Given the description of an element on the screen output the (x, y) to click on. 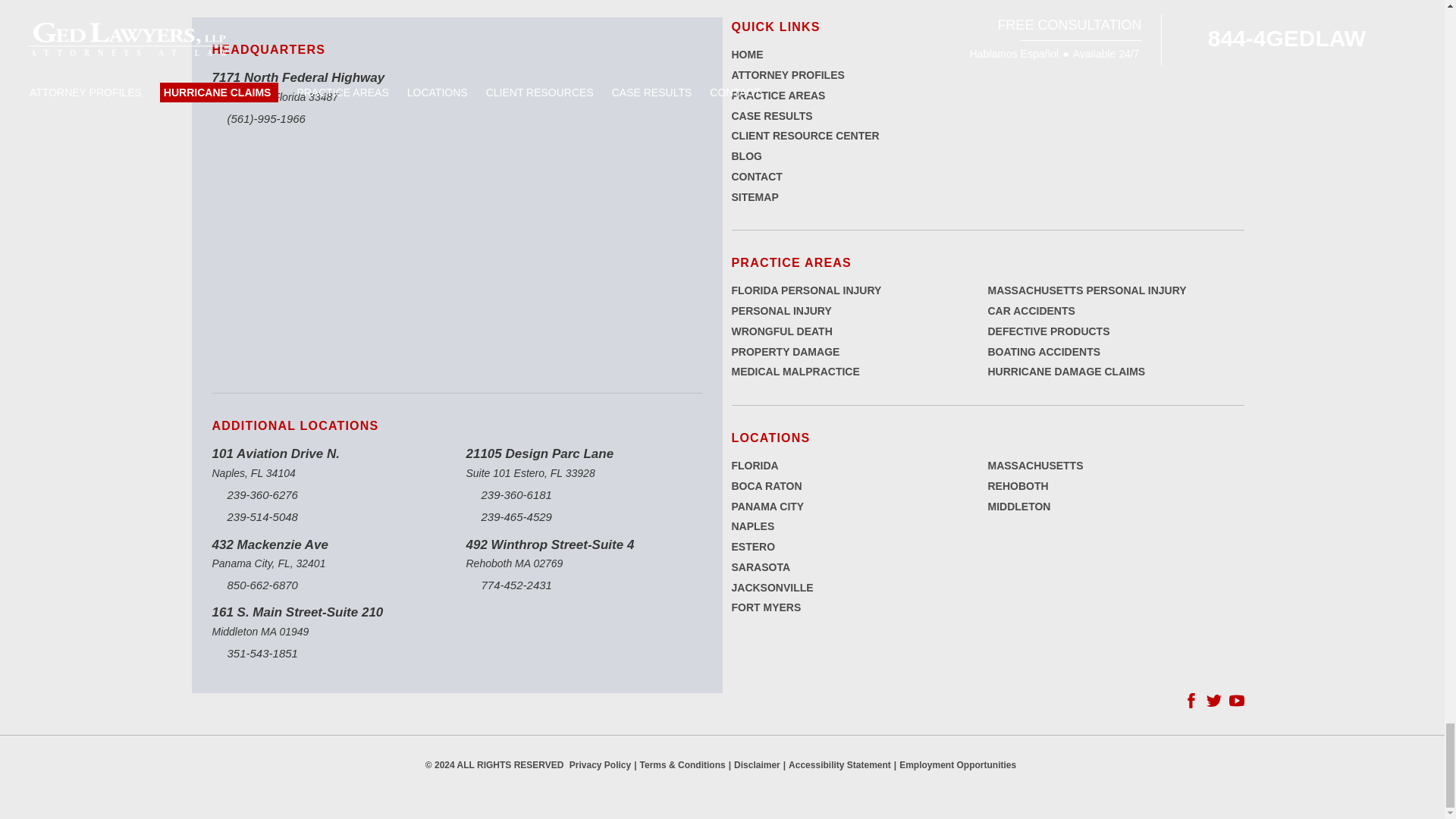
phone (330, 118)
